Given the description of an element on the screen output the (x, y) to click on. 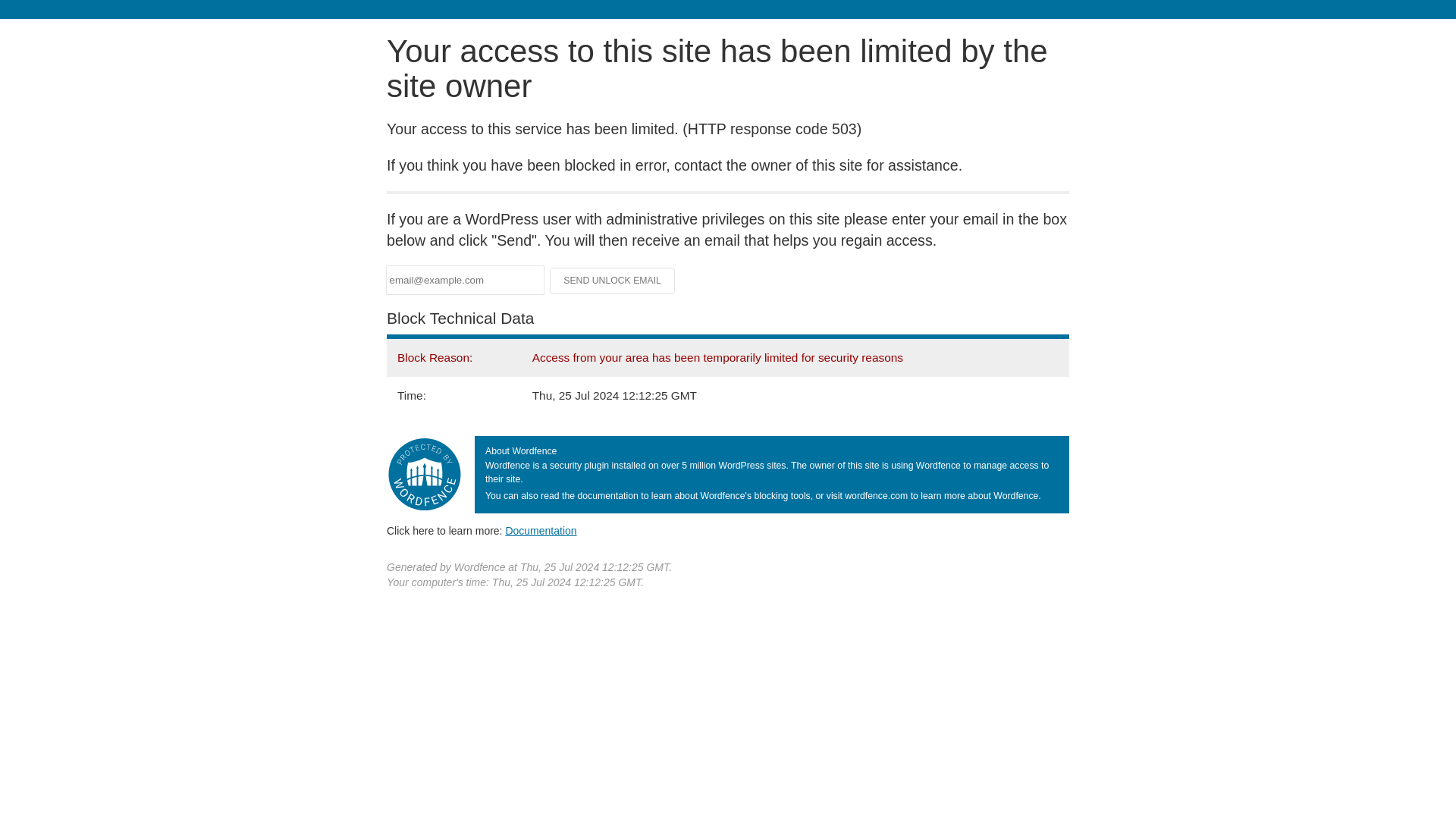
Send Unlock Email (612, 280)
Send Unlock Email (612, 280)
